Given the description of an element on the screen output the (x, y) to click on. 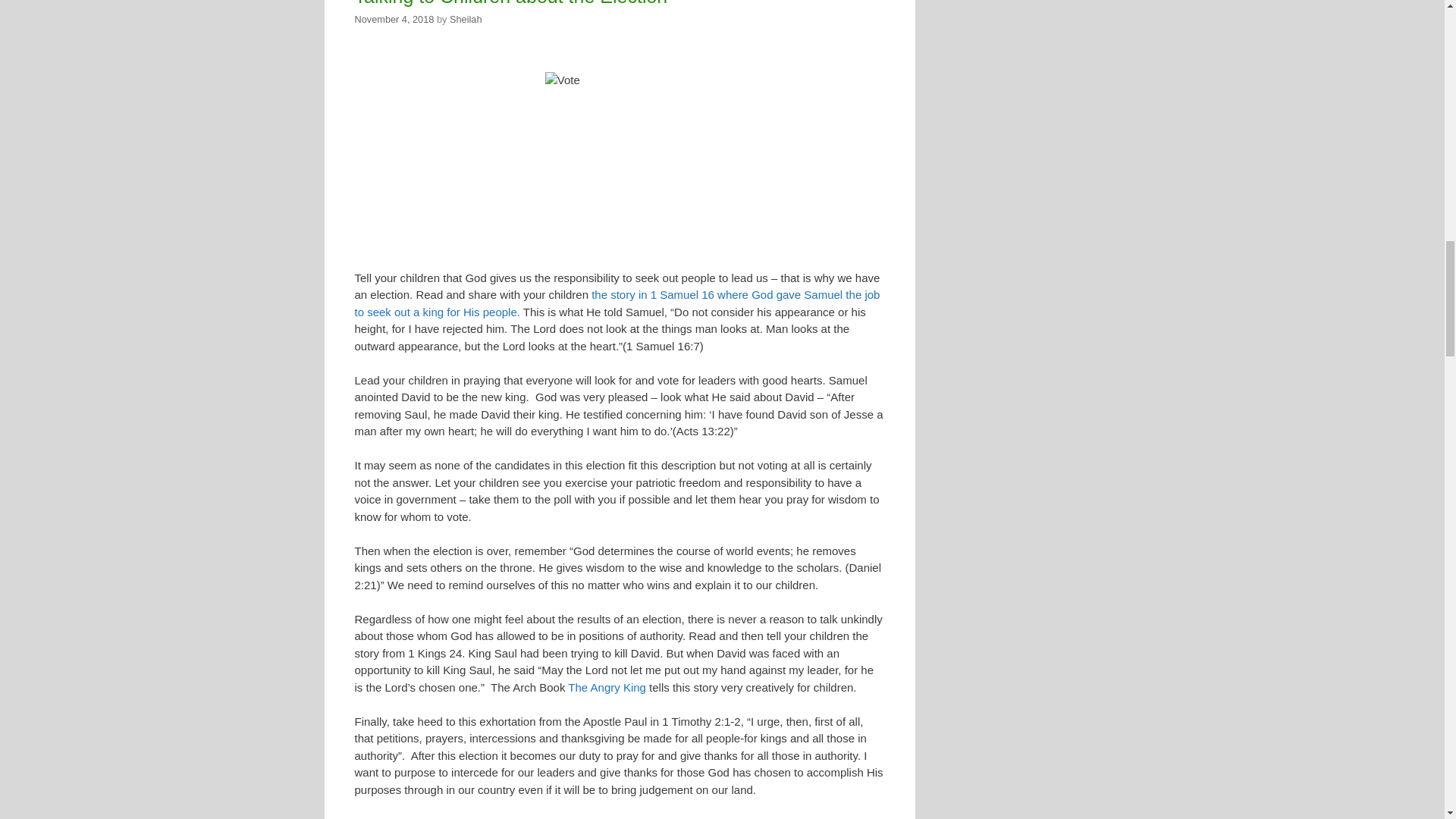
The Angry King (606, 686)
Vote (619, 145)
Talking to Children about the Election (511, 3)
Sheilah (465, 19)
View all posts by Sheilah (465, 19)
3:08 pm (394, 19)
November 4, 2018 (394, 19)
